Given the description of an element on the screen output the (x, y) to click on. 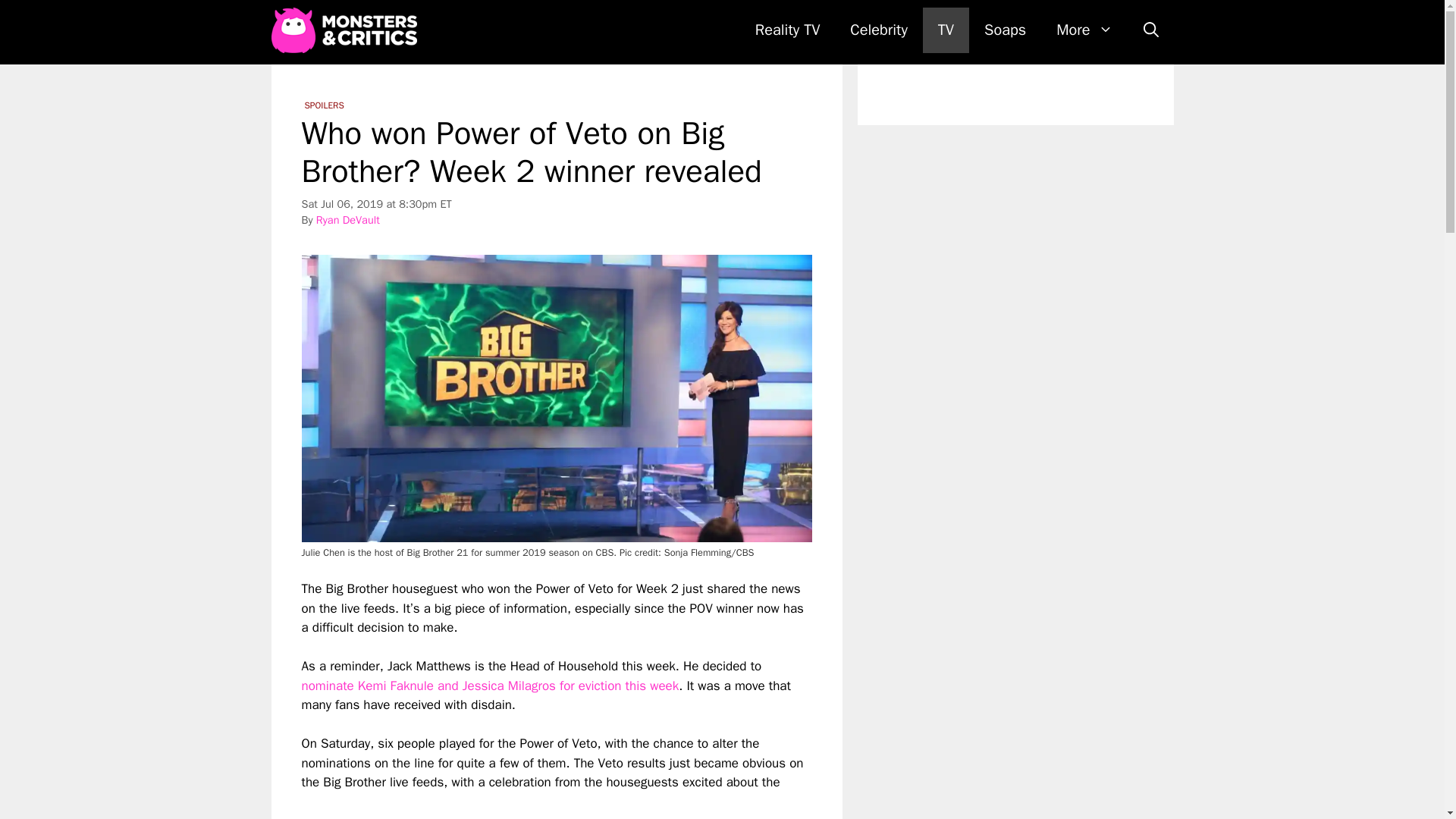
Celebrity (877, 30)
Soaps (1005, 30)
YouTube video player (546, 805)
Reality TV (787, 30)
More (1083, 30)
Monsters and Critics (343, 30)
TV (946, 30)
Monsters and Critics (347, 30)
View all posts by Ryan DeVault (347, 219)
Ryan DeVault (347, 219)
